Given the description of an element on the screen output the (x, y) to click on. 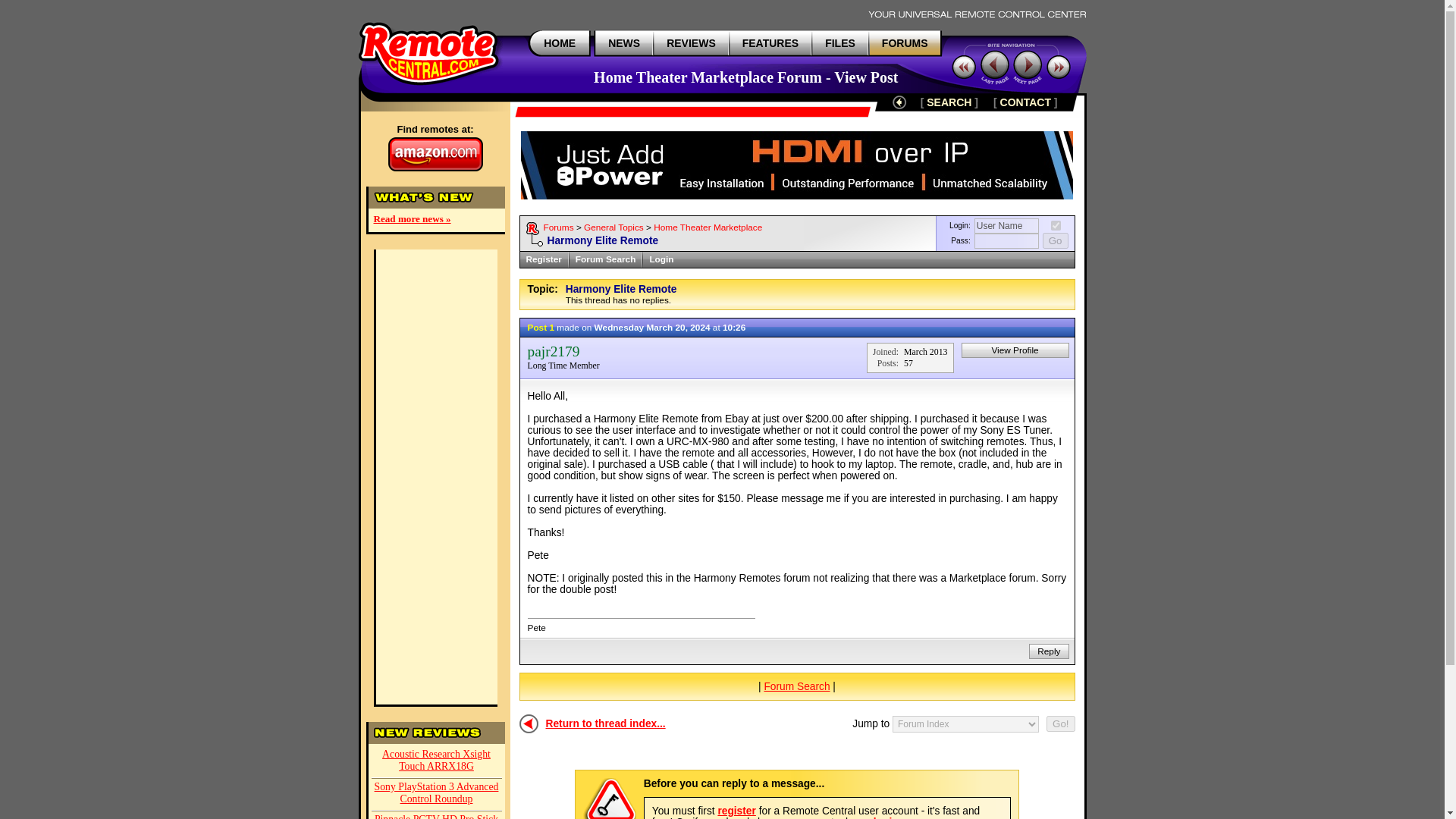
User Name (1006, 225)
1 (1056, 225)
Forum Search (605, 258)
FEATURES (769, 42)
Return to thread index... (605, 723)
Get in touch (1025, 102)
Go! (1060, 723)
Find out what's new (624, 42)
register (736, 810)
Post 1 (540, 326)
Go (1055, 240)
Login (660, 258)
Home Theater Marketplace (707, 226)
SEARCH (948, 102)
Special reports and sections (769, 42)
